Given the description of an element on the screen output the (x, y) to click on. 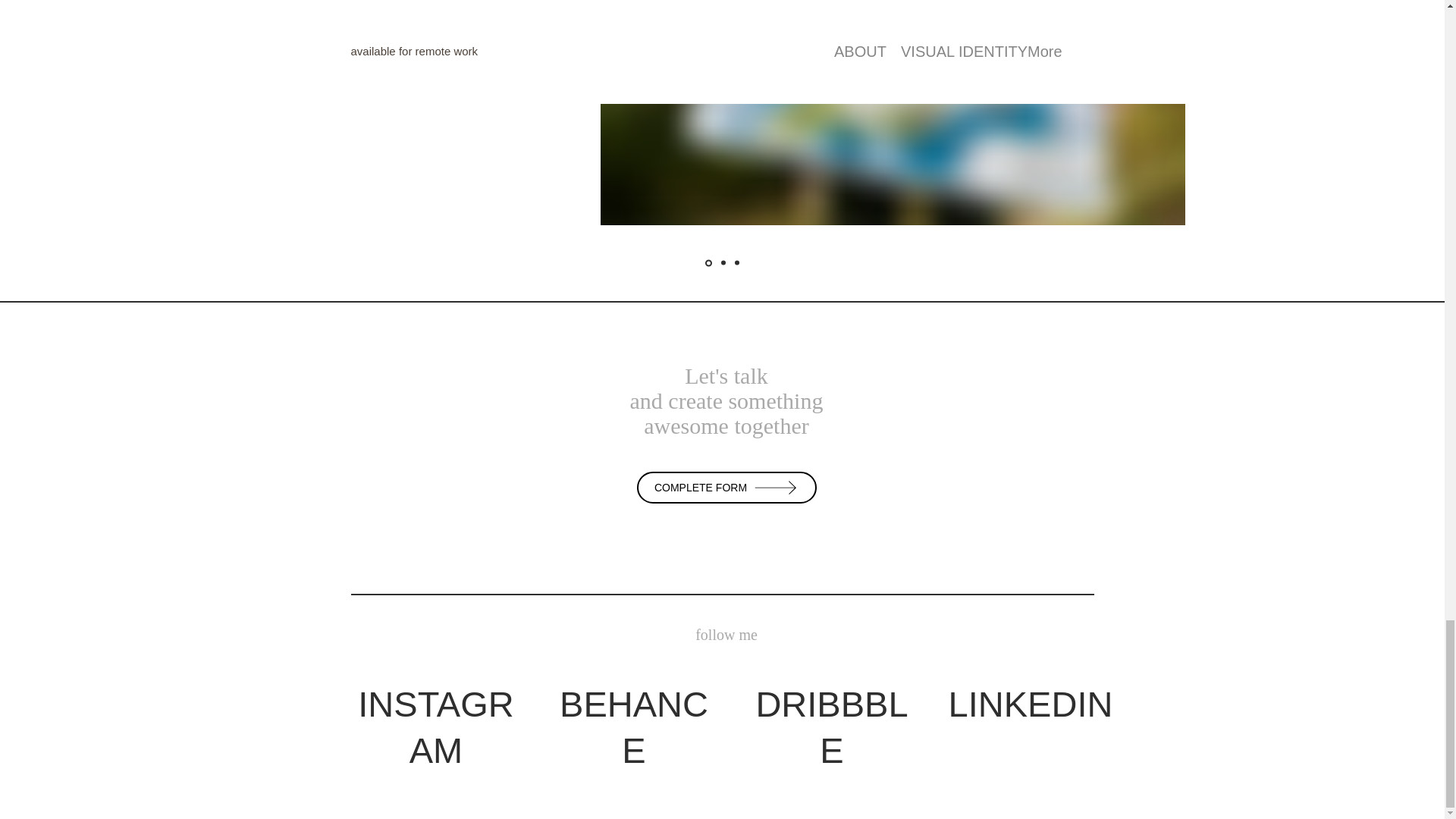
DRIBBBLE (831, 726)
BEHANCE (633, 726)
INSTAGRAM (435, 726)
COMPLETE FORM (726, 487)
